Given the description of an element on the screen output the (x, y) to click on. 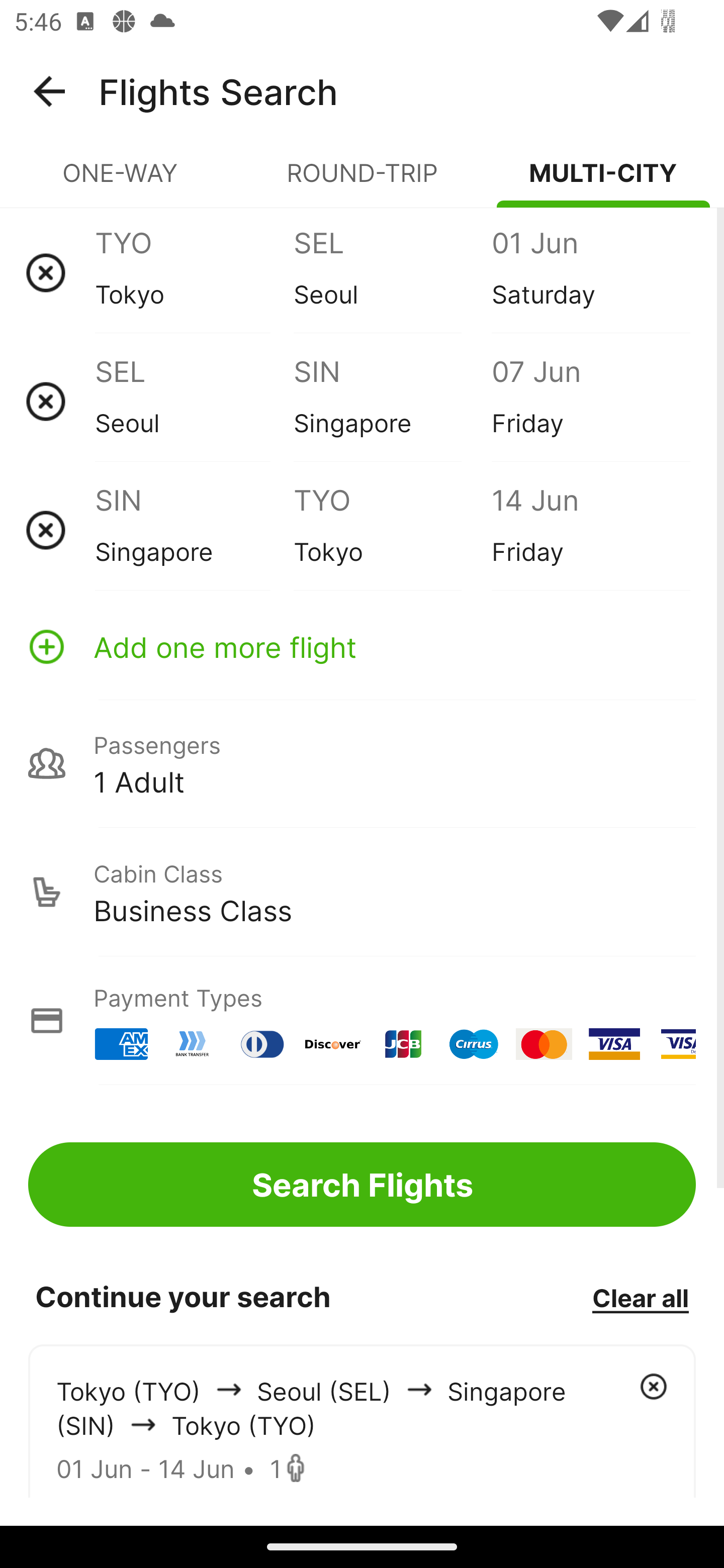
ONE-WAY (120, 180)
ROUND-TRIP (361, 180)
MULTI-CITY (603, 180)
TYO Tokyo (193, 272)
SEL Seoul (392, 272)
01 Jun Saturday (590, 272)
SEL Seoul (193, 401)
SIN Singapore (392, 401)
07 Jun Friday (590, 401)
SIN Singapore (193, 529)
TYO Tokyo (392, 529)
14 Jun Friday (590, 529)
Add one more flight (362, 646)
Passengers 1 Adult (362, 762)
Cabin Class Business Class (362, 891)
Payment Types (362, 1020)
Search Flights (361, 1184)
Clear all (640, 1297)
